Given the description of an element on the screen output the (x, y) to click on. 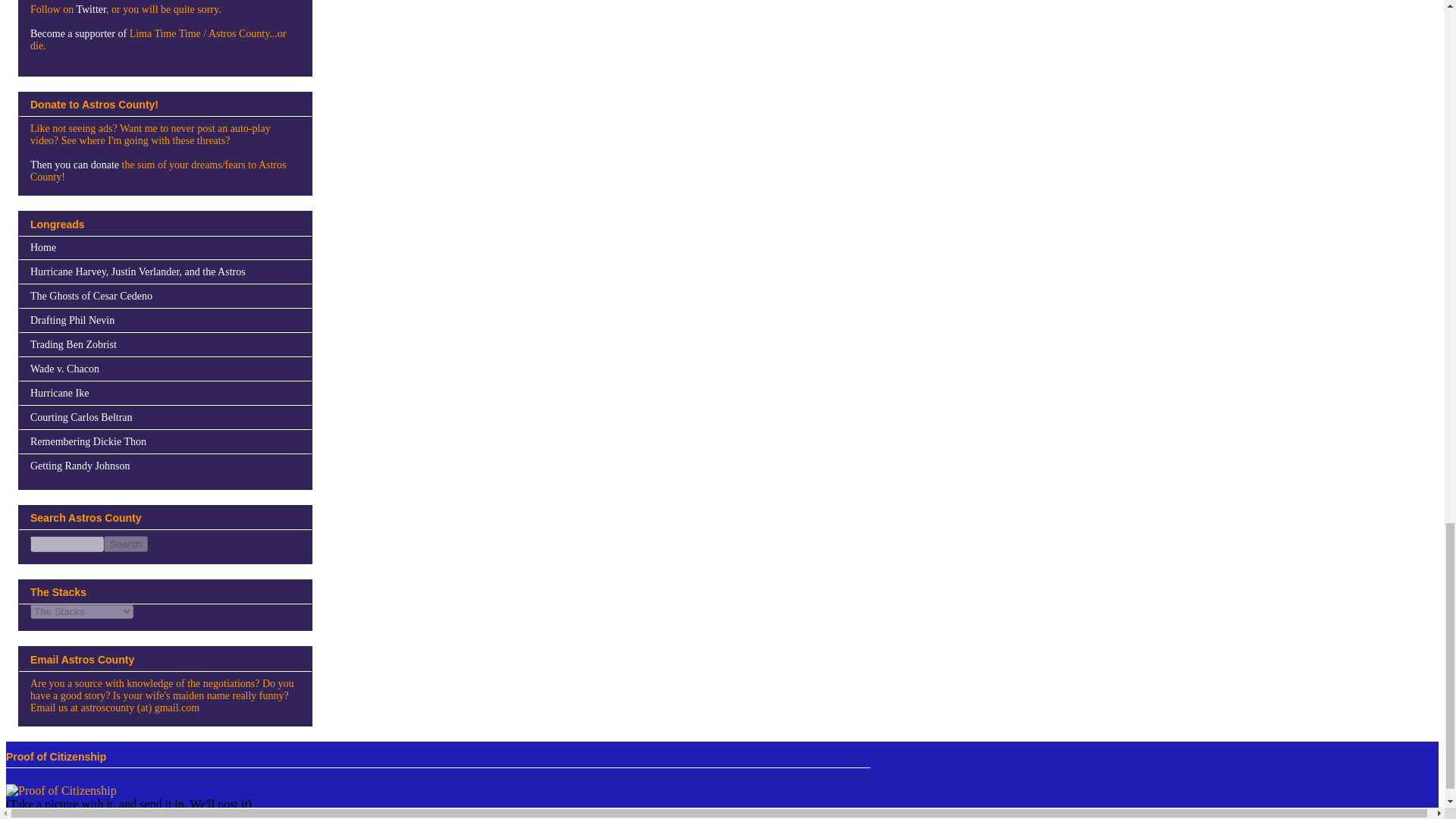
Hurricane Harvey, Justin Verlander, and the Astros (138, 271)
Become a supporter of (78, 33)
Twitter (90, 9)
search (66, 544)
search (125, 544)
Then you can donate (74, 164)
Search (125, 544)
Home (43, 247)
The Ghosts of Cesar Cedeno (91, 296)
Search (125, 544)
